Given the description of an element on the screen output the (x, y) to click on. 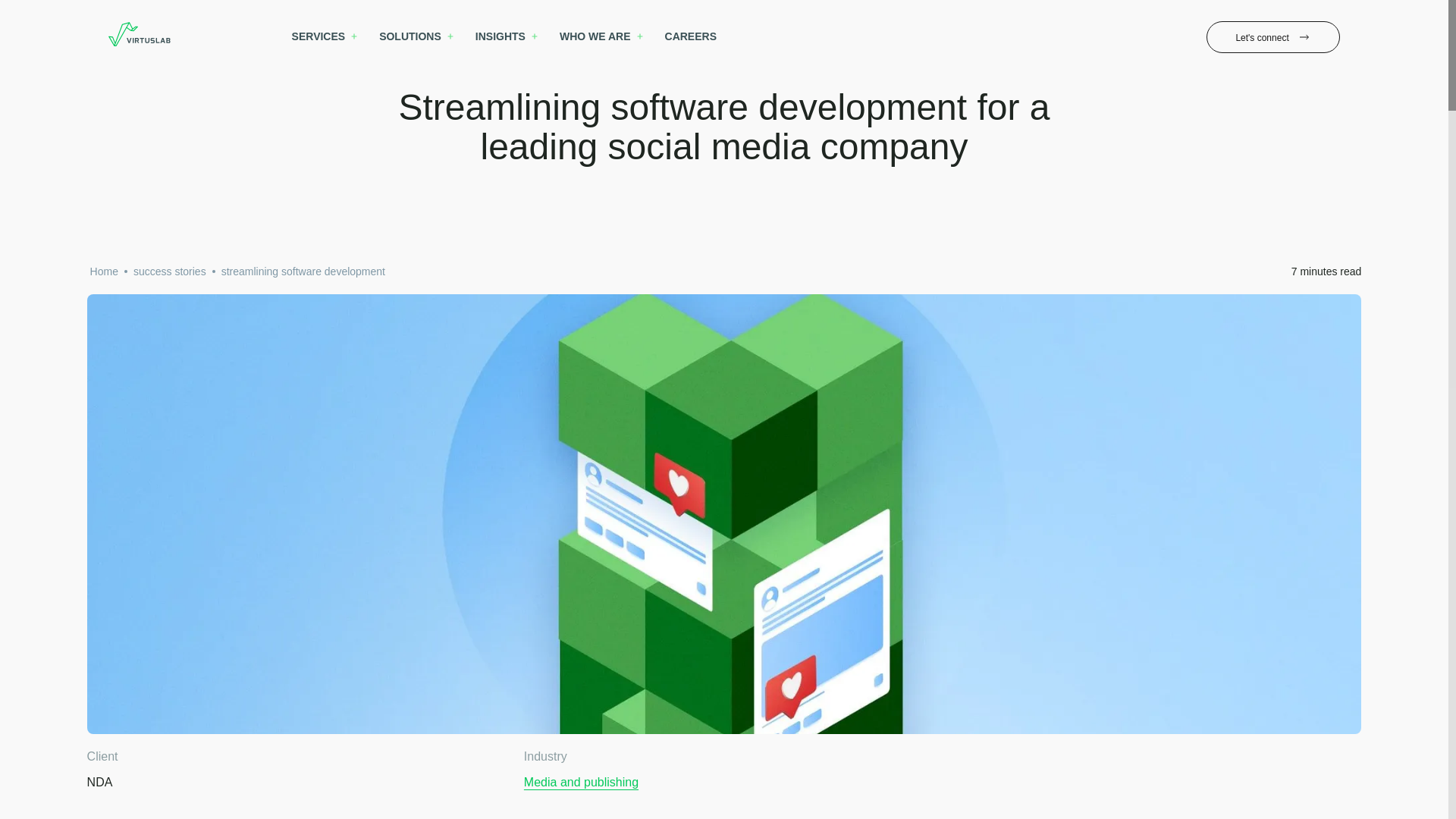
WHO WE ARE (601, 36)
Let's connect (1273, 37)
SERVICES (325, 36)
INSIGHTS (507, 36)
CAREERS (697, 36)
SOLUTIONS (416, 36)
